Given the description of an element on the screen output the (x, y) to click on. 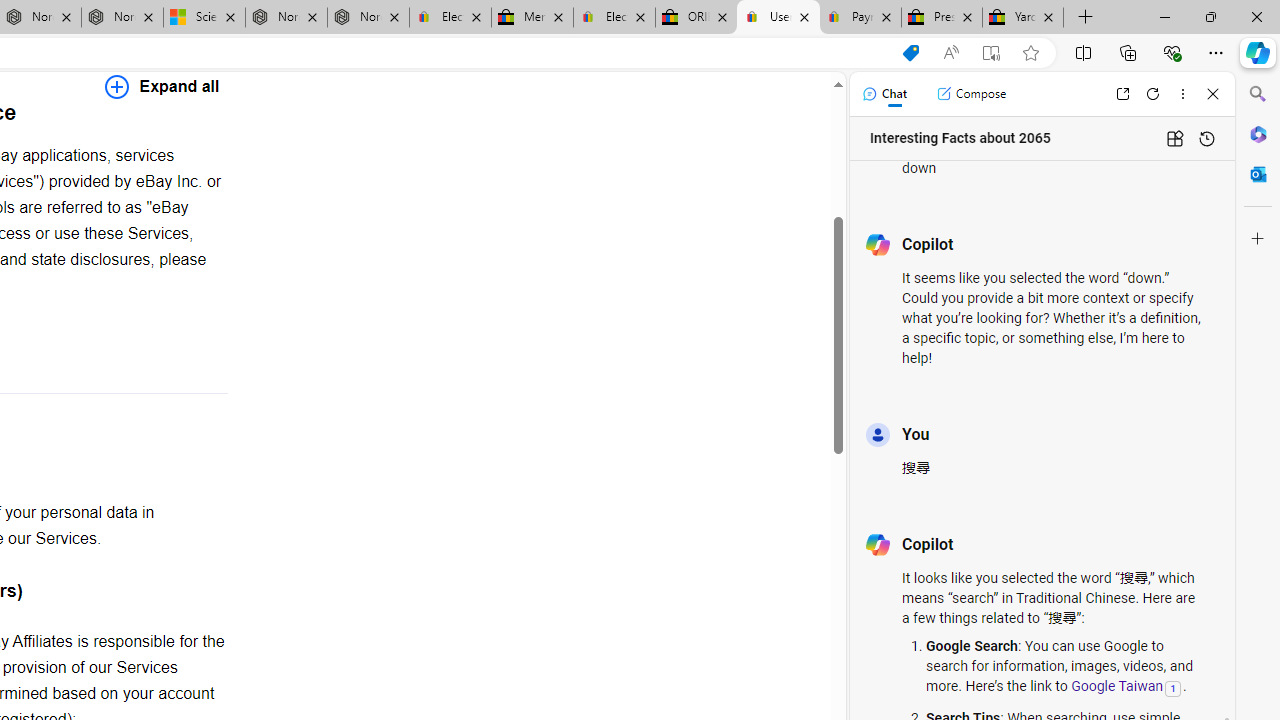
Open link in new tab (1122, 93)
Compose (971, 93)
Chat (884, 93)
Press Room - eBay Inc. (941, 17)
